Given the description of an element on the screen output the (x, y) to click on. 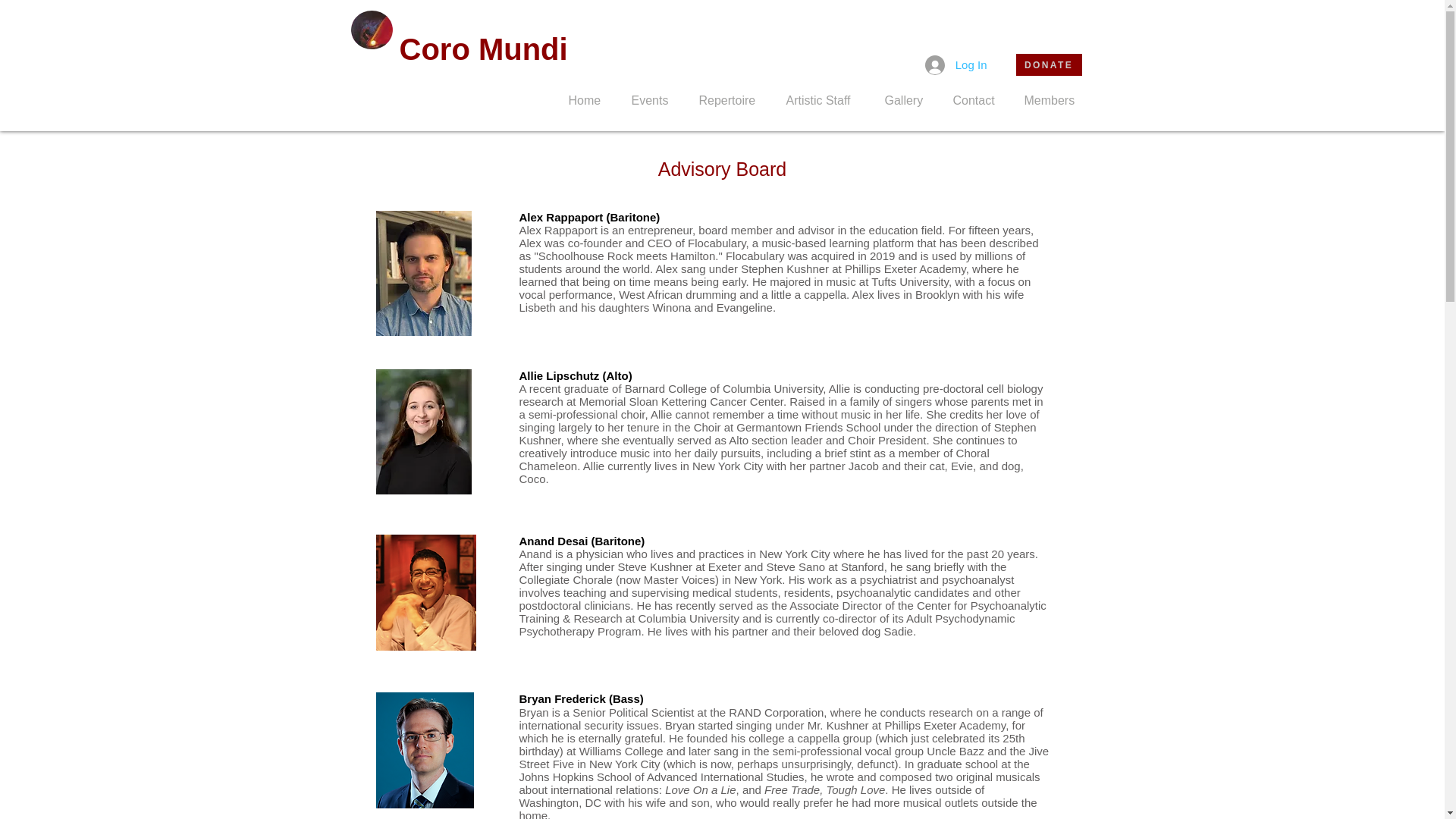
Log In (955, 63)
Members (1053, 100)
Coro Mundi (482, 49)
Home (588, 100)
DONATE (1048, 65)
Events (653, 100)
Artistic Staff (823, 100)
Repertoire (730, 100)
Gallery (907, 100)
Contact (977, 100)
